Given the description of an element on the screen output the (x, y) to click on. 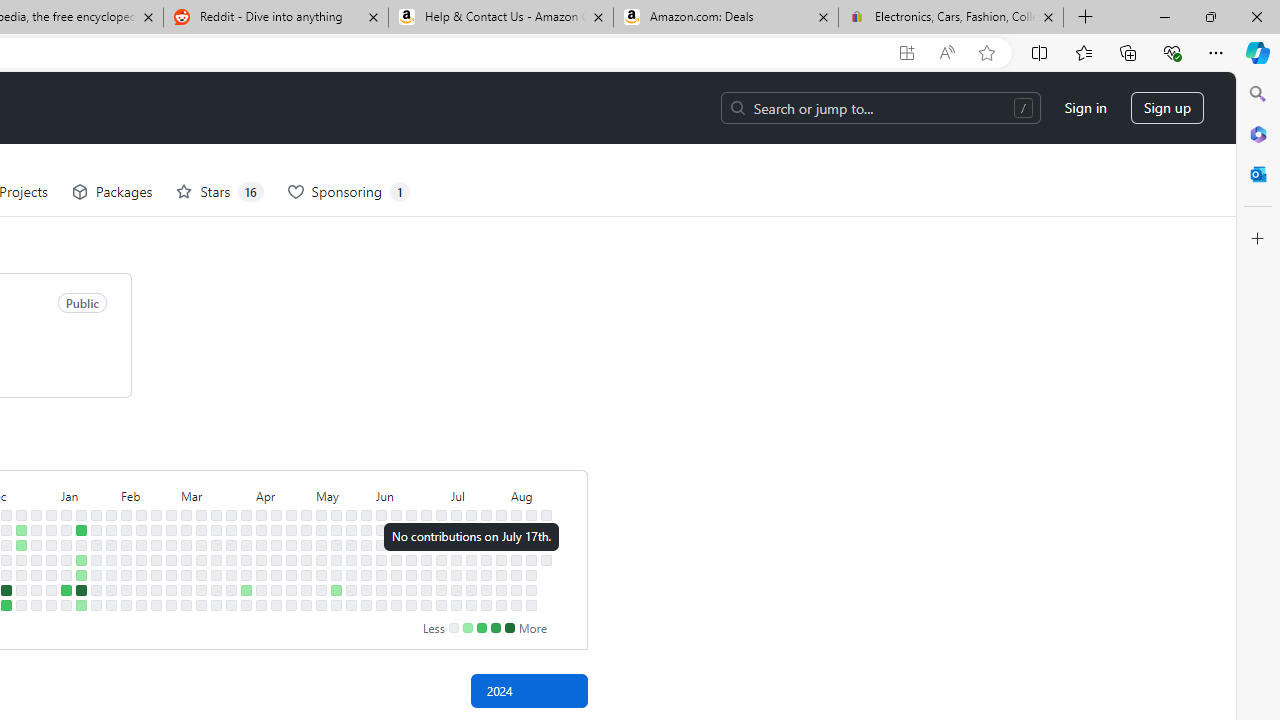
No contributions on June 29th. (426, 605)
No contributions on March 3rd. (186, 515)
2 contributions on December 16th. (6, 605)
No contributions on April 27th. (290, 605)
No contributions on May 21st. (351, 544)
1 contribution on December 18th. (20, 529)
Amazon.com: Deals (726, 17)
Stars 16 (219, 192)
No contributions on March 1st. (171, 589)
Contribution activity in 2024 (528, 690)
June (411, 493)
January (88, 493)
No contributions on April 7th. (261, 515)
No contributions on June 24th. (426, 529)
